Given the description of an element on the screen output the (x, y) to click on. 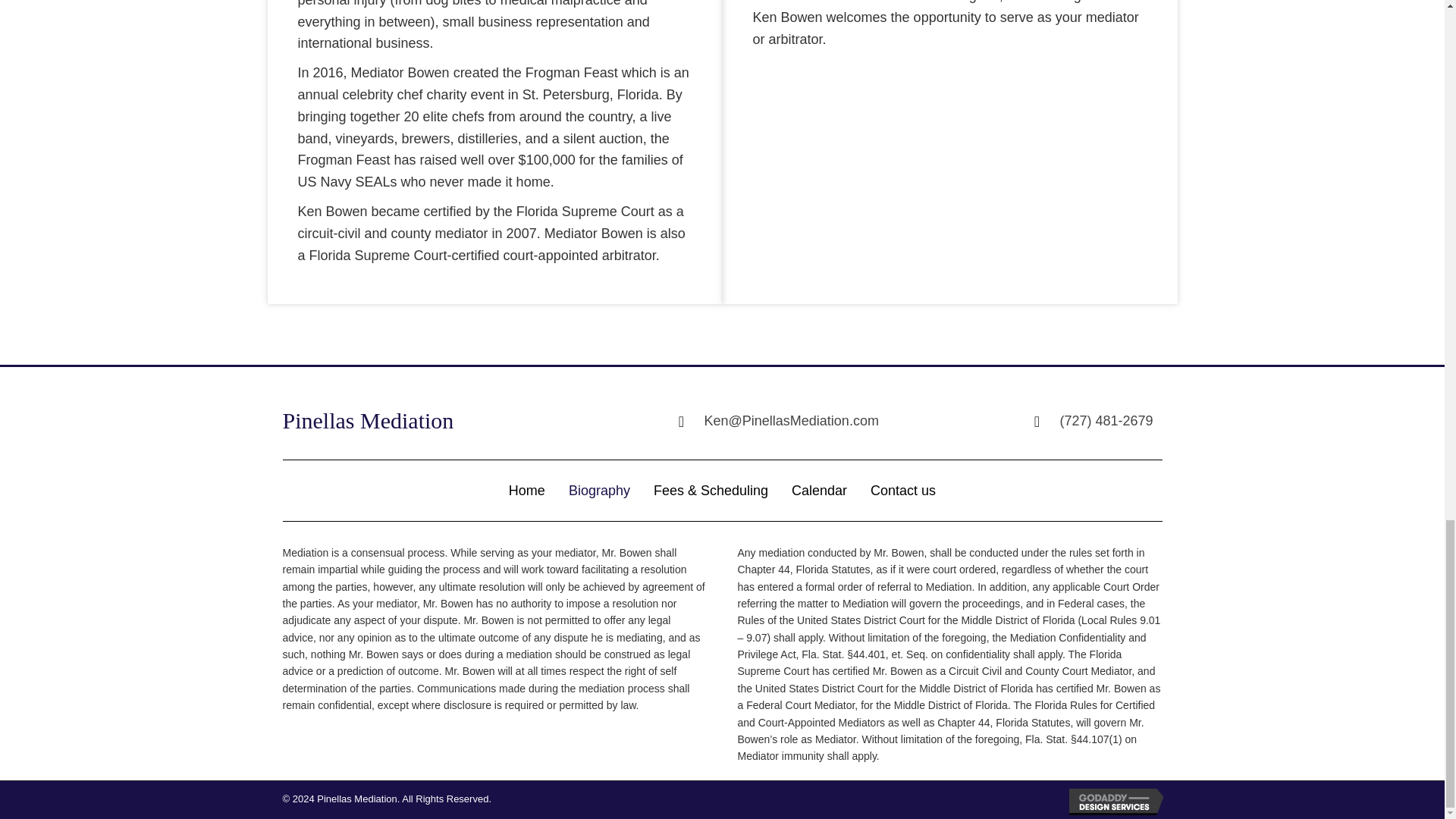
Biography (599, 490)
Calendar (819, 490)
Pinellas Mediation (367, 420)
Home (526, 490)
Contact us (903, 490)
